Given the description of an element on the screen output the (x, y) to click on. 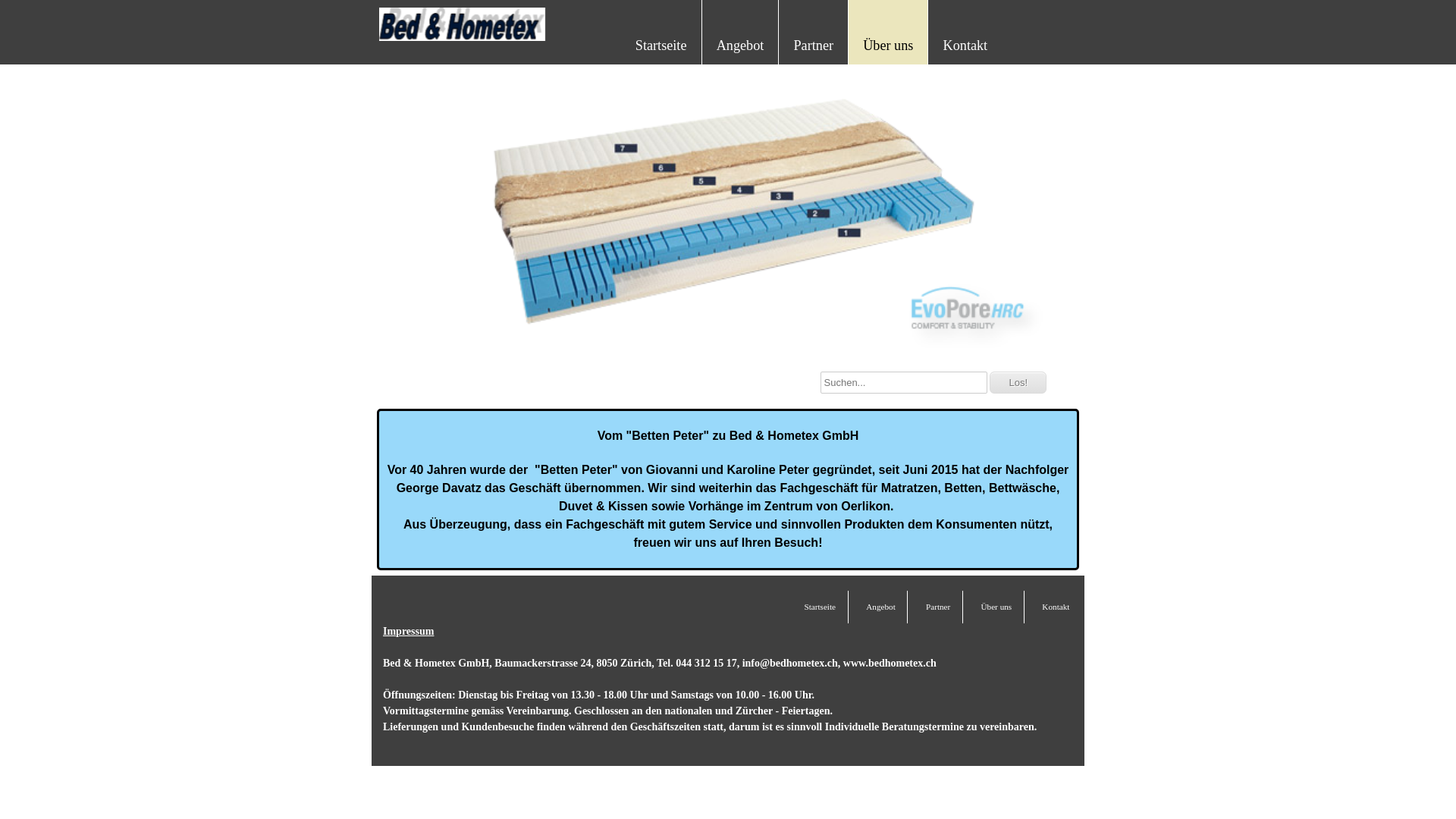
Partner Element type: text (937, 606)
Angebot Element type: text (740, 43)
Partner Element type: text (812, 43)
Kontakt Element type: text (1055, 606)
Kontakt Element type: text (965, 43)
Los! Element type: text (1017, 382)
Angebot Element type: text (880, 606)
Startseite Element type: text (819, 606)
Impressum Element type: text (407, 631)
Startseite Element type: text (660, 43)
